Given the description of an element on the screen output the (x, y) to click on. 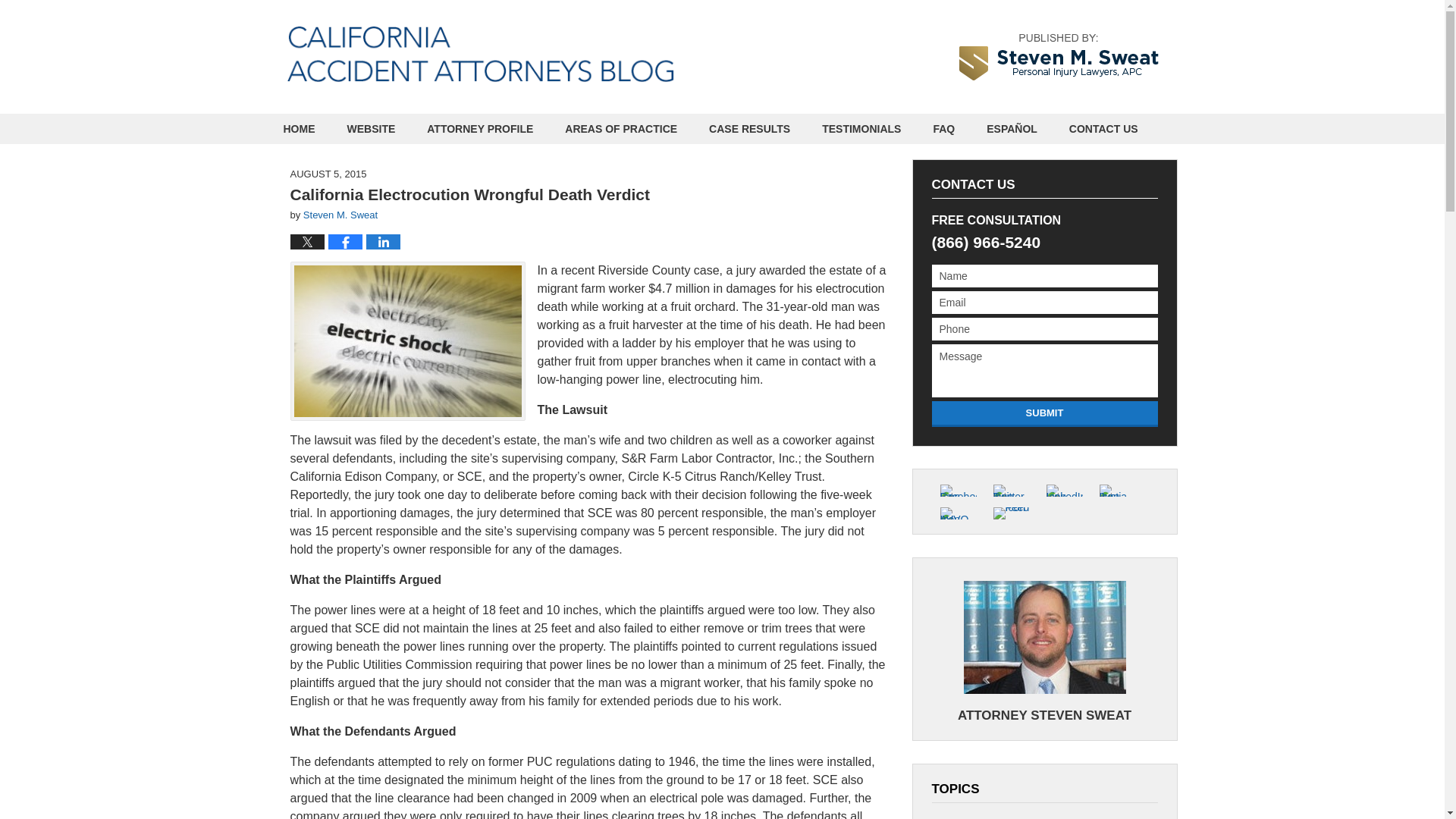
FAQ (944, 128)
Feed (1010, 512)
CASE RESULTS (749, 128)
by Steven M. Sweat, Personal Injury Lawyers, APC (1057, 56)
Twitter (1010, 490)
Please enter a valid phone number. (1044, 328)
CONTACT US (1103, 128)
ATTORNEY PROFILE (479, 128)
Justia (1116, 490)
AREAS OF PRACTICE (620, 128)
